Given the description of an element on the screen output the (x, y) to click on. 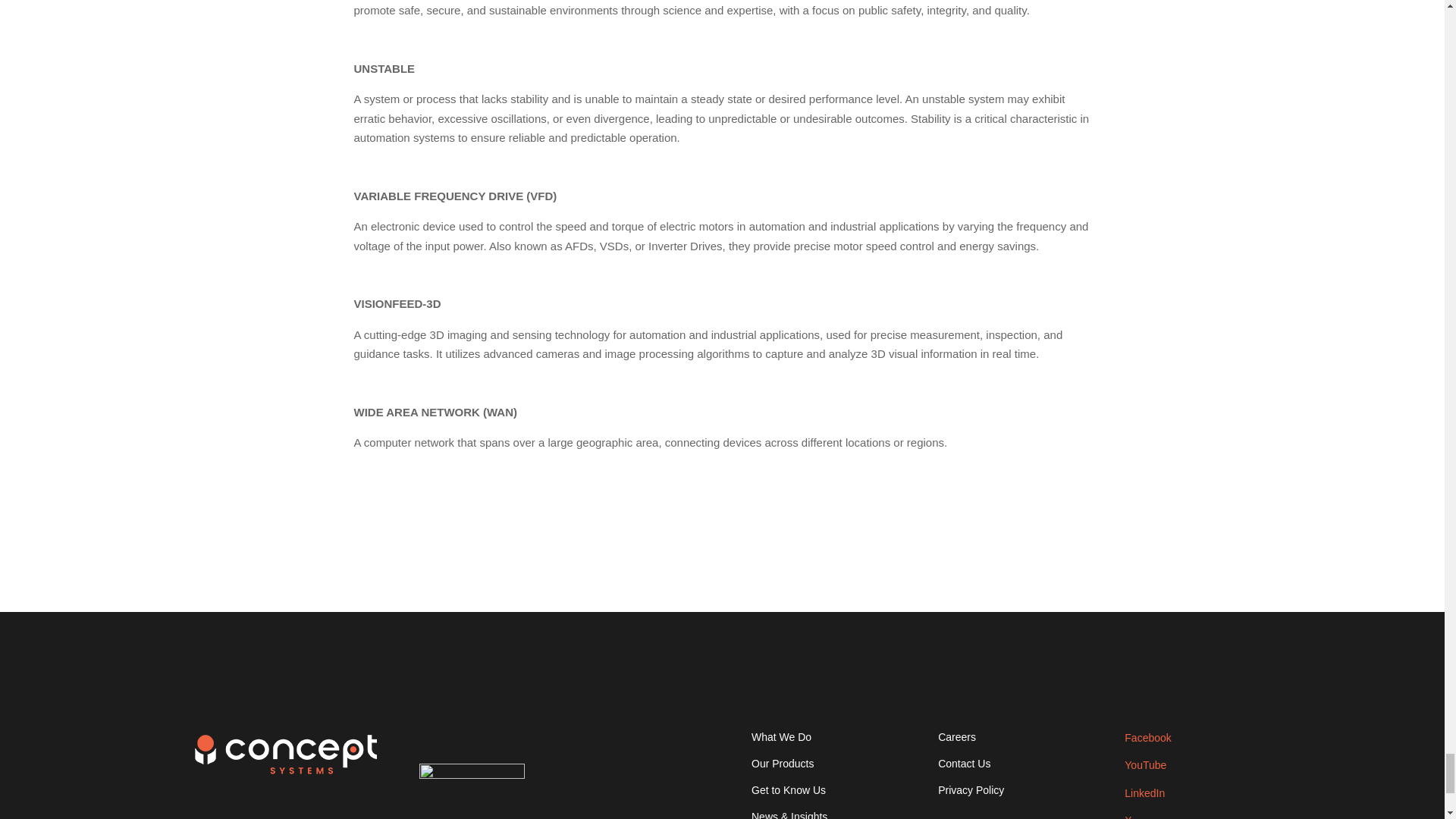
New logo (285, 753)
